Given the description of an element on the screen output the (x, y) to click on. 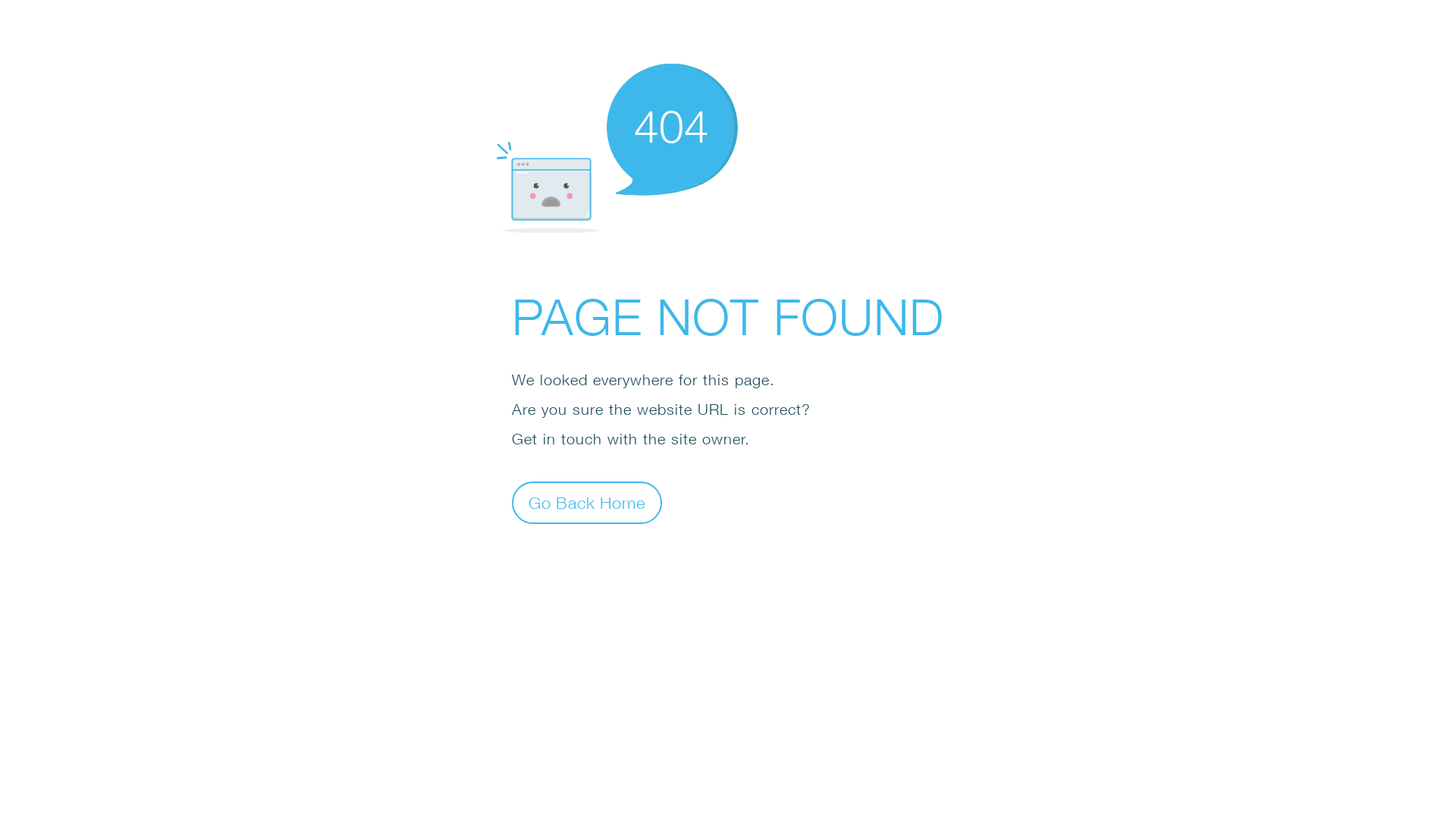
Go Back Home Element type: text (586, 502)
